Given the description of an element on the screen output the (x, y) to click on. 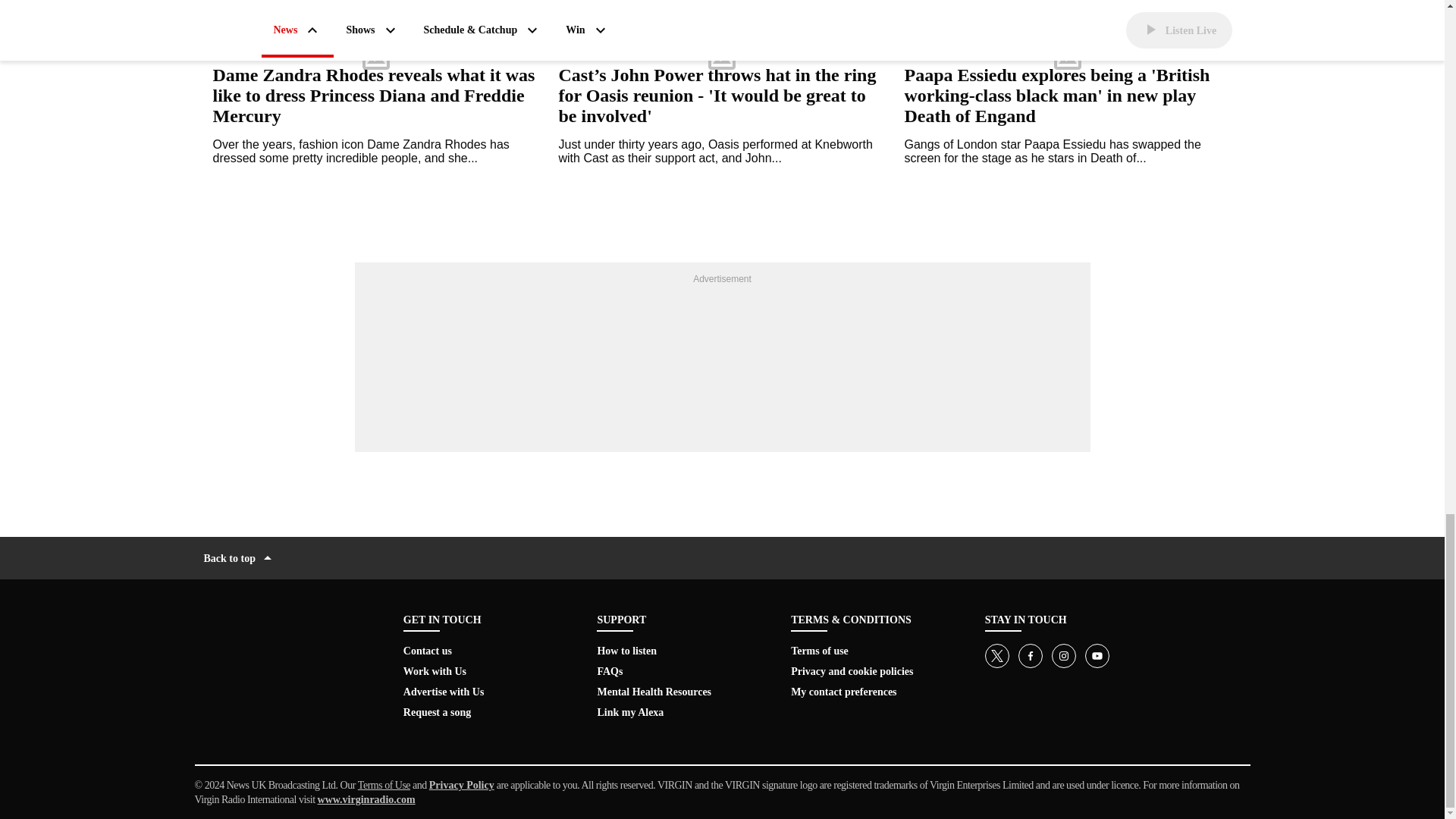
Request a song (436, 711)
Contact us (427, 651)
Work with Us (434, 671)
Back to top (239, 557)
How to listen (626, 651)
FAQs (609, 671)
Advertise with Us (443, 691)
